Given the description of an element on the screen output the (x, y) to click on. 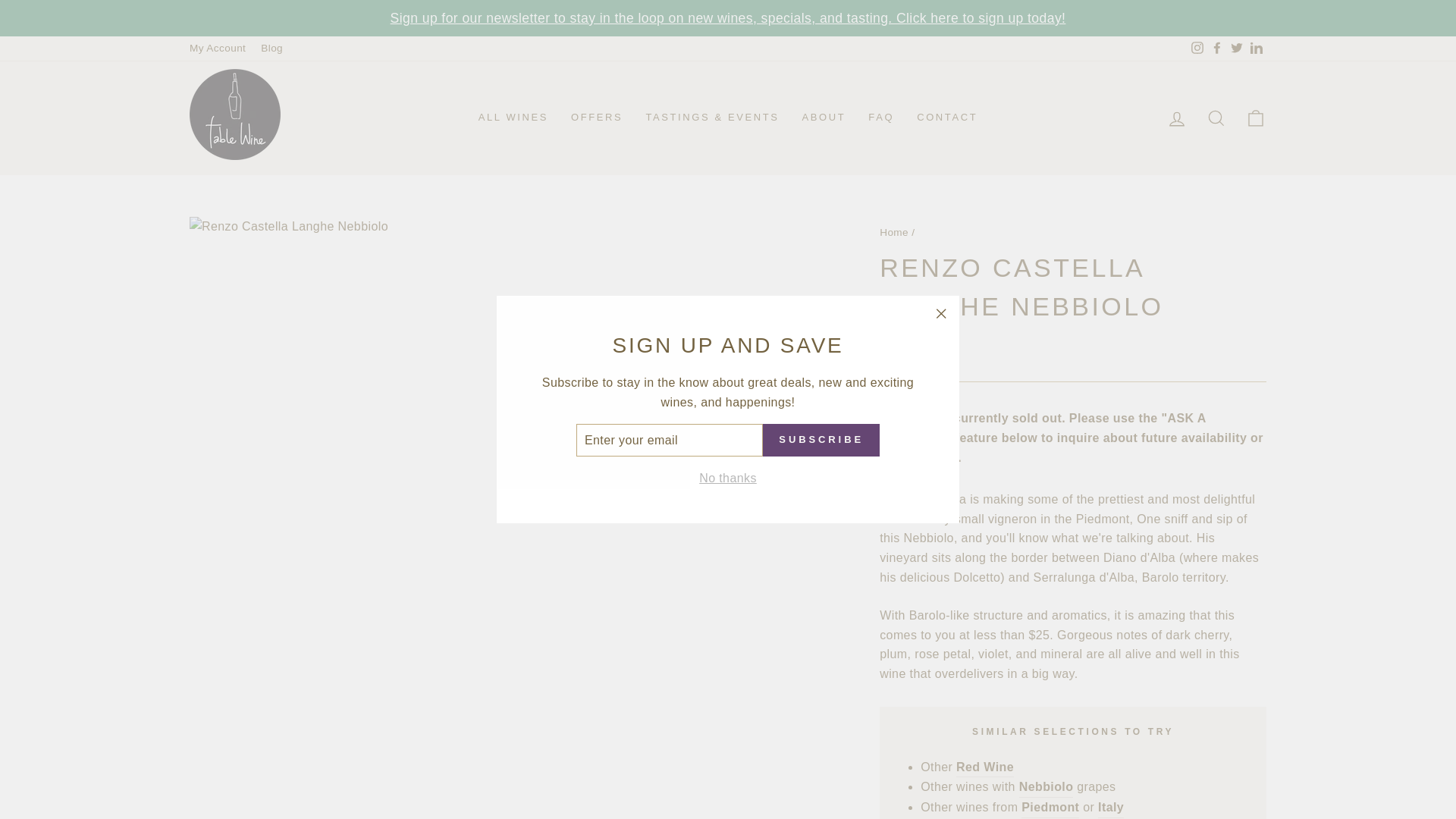
Back to the frontpage (893, 232)
